Given the description of an element on the screen output the (x, y) to click on. 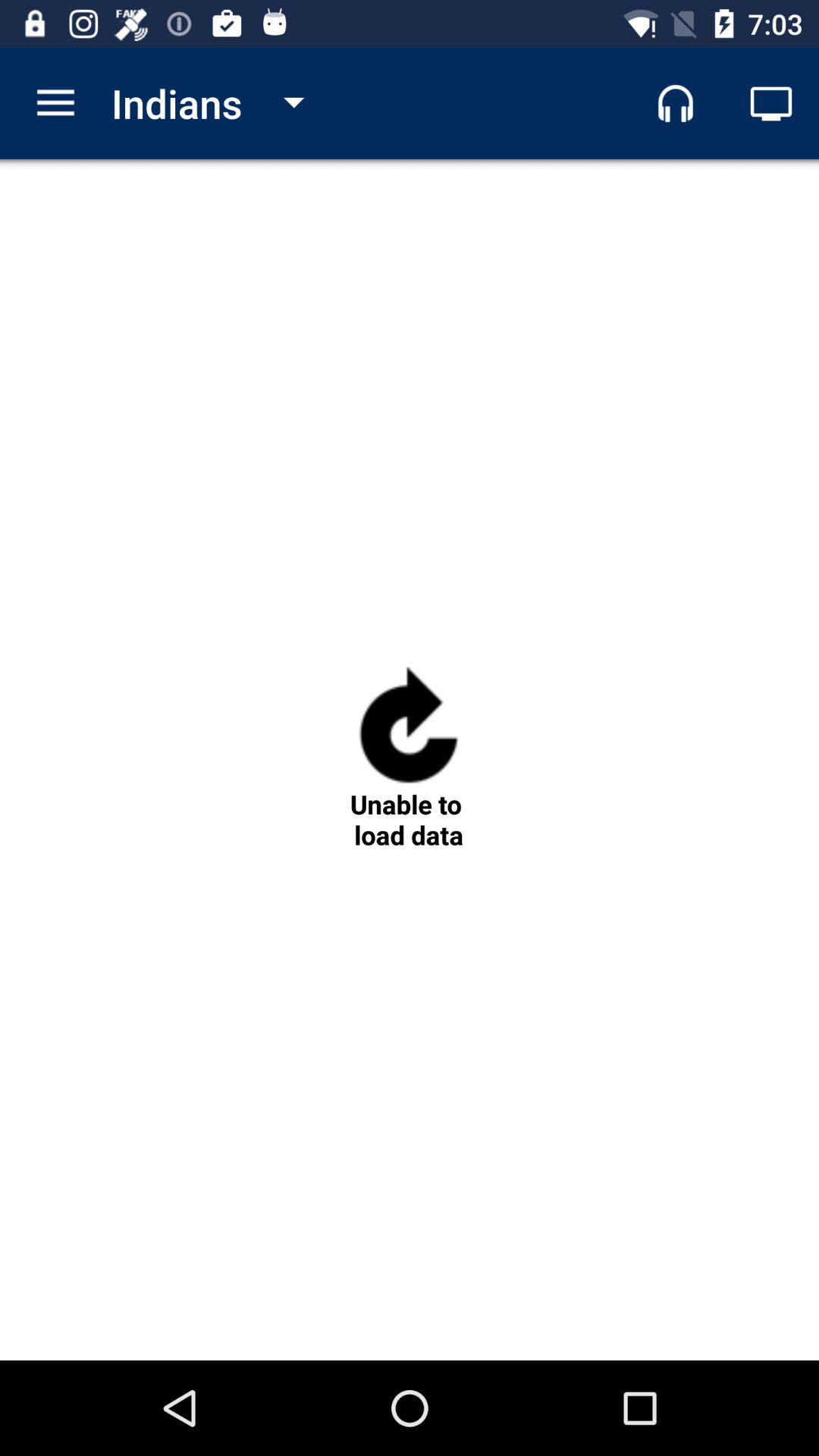
turn off icon to the left of indians (55, 103)
